Given the description of an element on the screen output the (x, y) to click on. 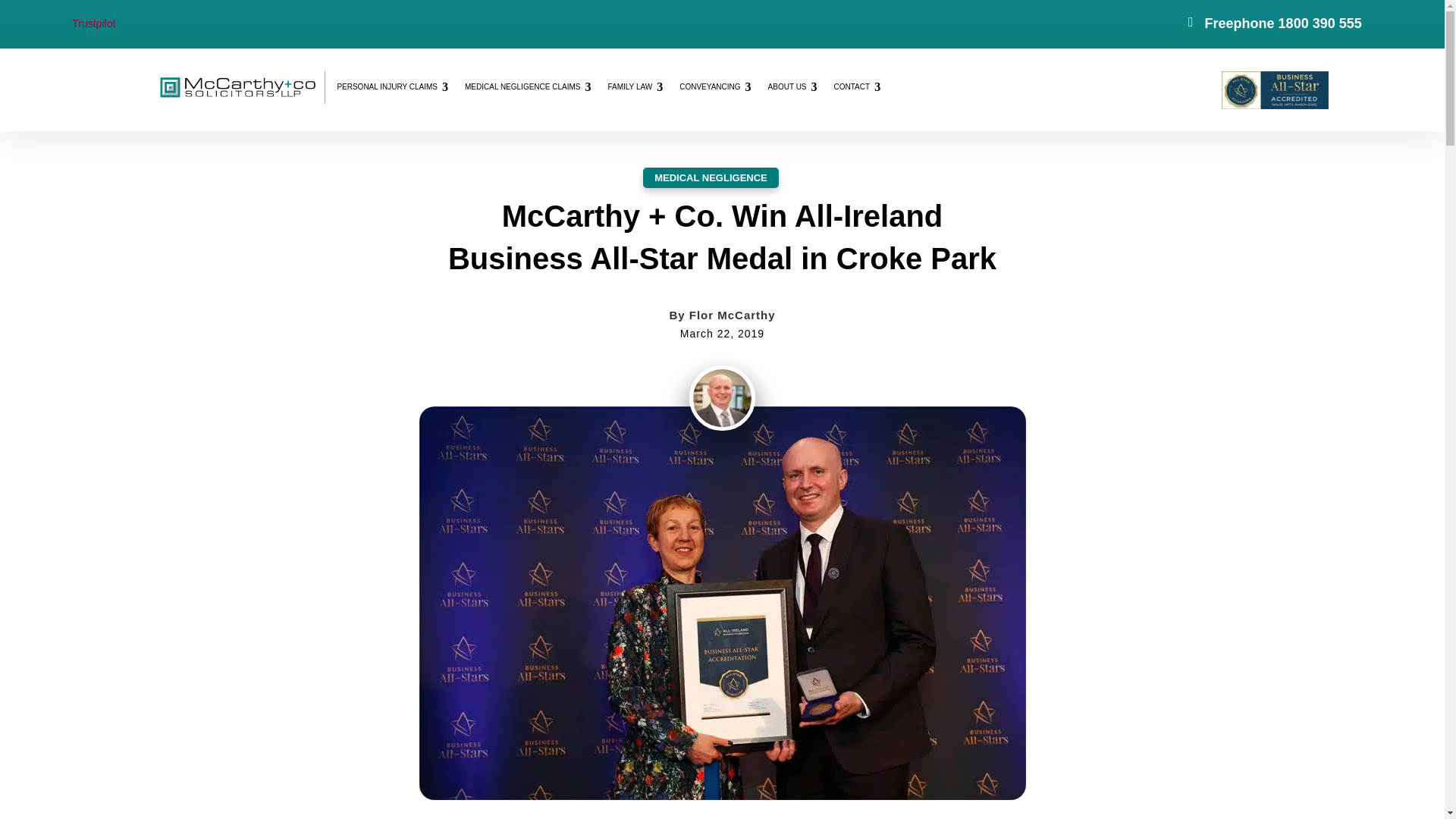
all-star-accred (722, 796)
PERSONAL INJURY CLAIMS (393, 86)
Freephone 1800 390 555 (1283, 23)
Trustpilot (93, 23)
business-allstar (1274, 105)
